Given the description of an element on the screen output the (x, y) to click on. 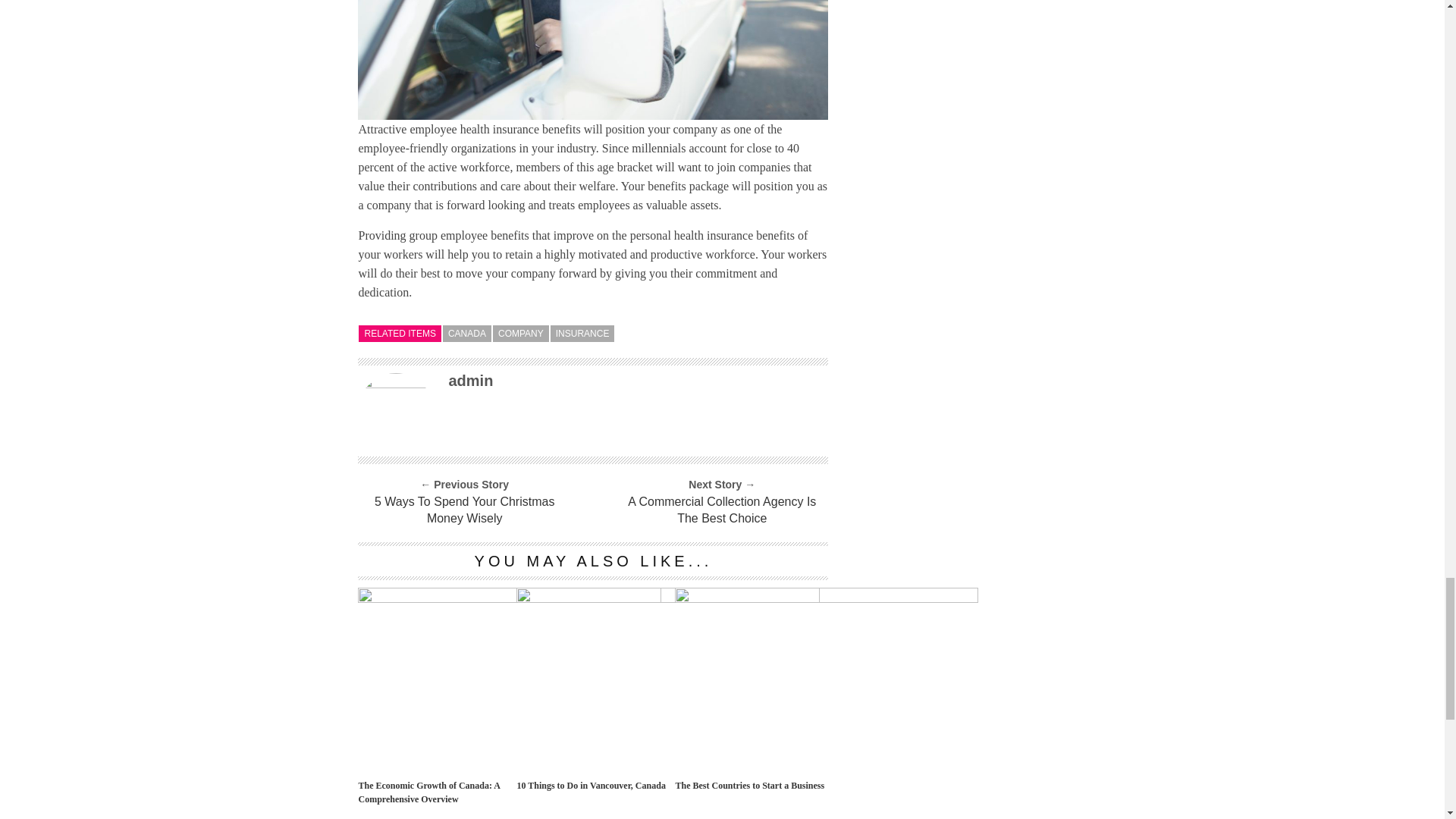
The Best Countries to Start a Business (826, 598)
5 Ways To Spend Your Christmas Money Wisely (463, 510)
10 Things to Do in Vancouver, Canada (667, 598)
INSURANCE (582, 333)
The Economic Growth of Canada: A Comprehensive Overview (433, 791)
CANADA (467, 333)
The Economic Growth of Canada: A Comprehensive Overview (509, 598)
Posts by admin (470, 380)
COMPANY (520, 333)
admin (470, 380)
A Commercial Collection Agency Is The Best Choice (722, 510)
